Given the description of an element on the screen output the (x, y) to click on. 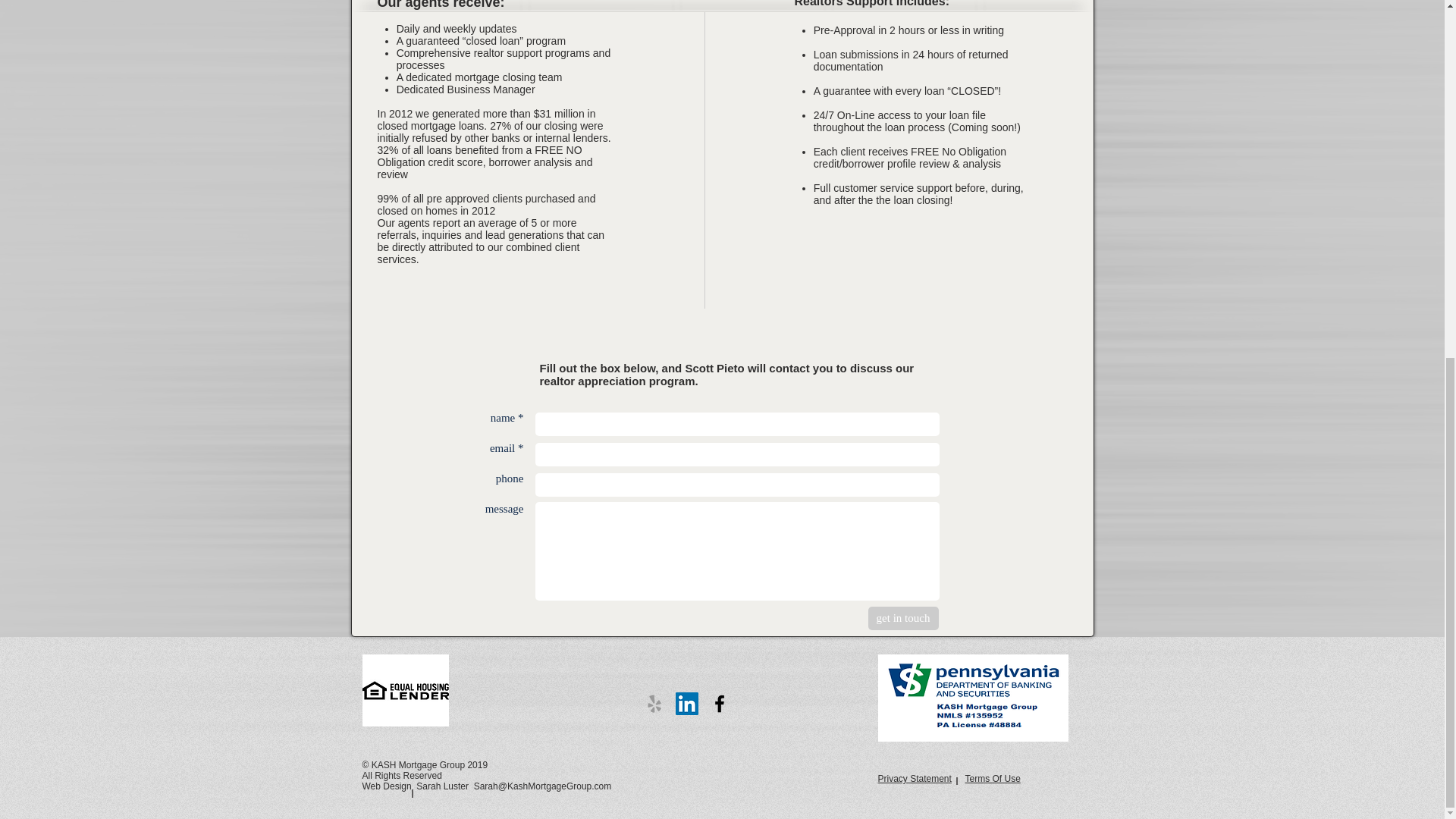
get in touch (902, 617)
Privacy Statement (914, 778)
Terms Of Use (991, 778)
